Given the description of an element on the screen output the (x, y) to click on. 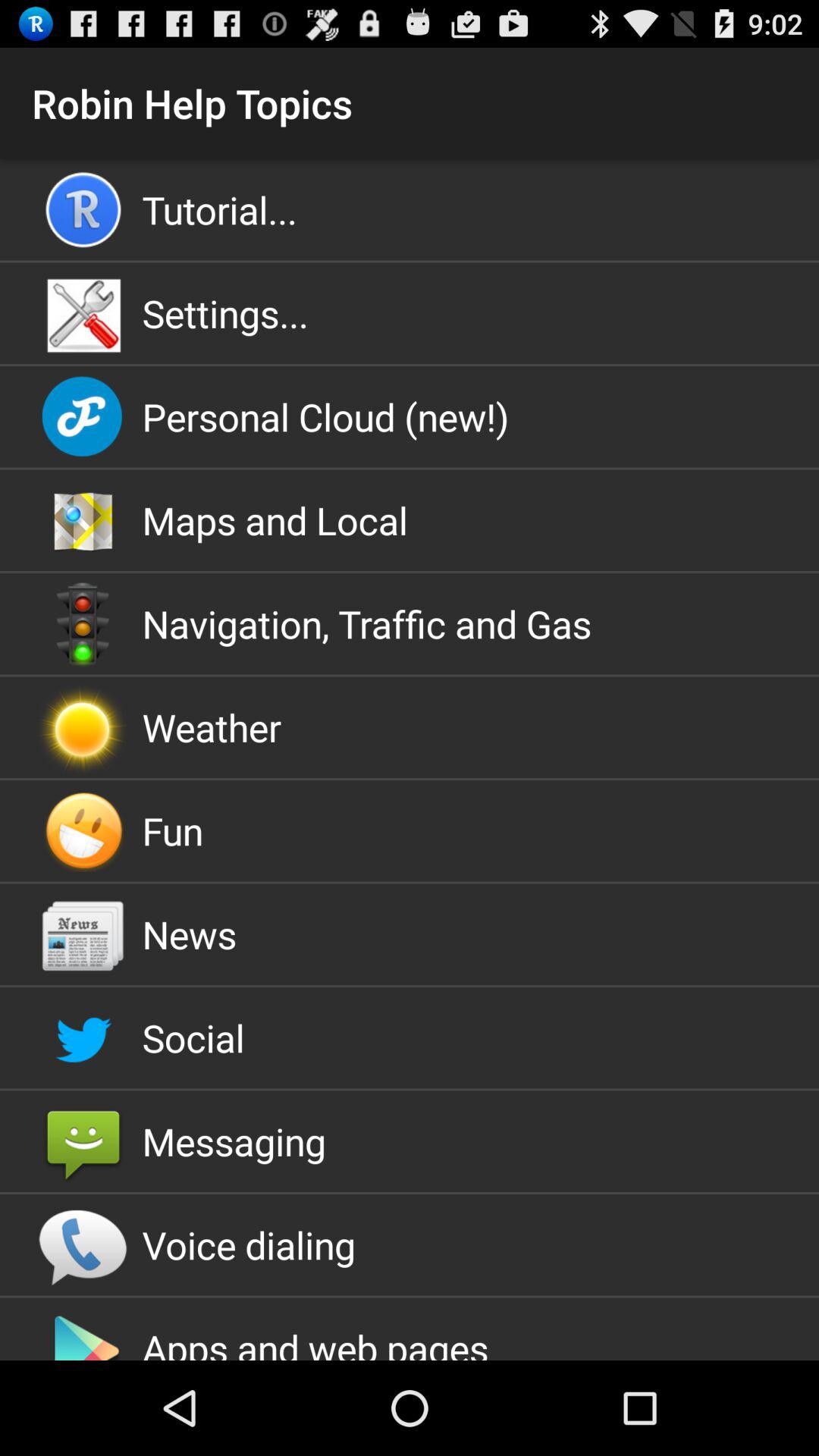
flip until the  voice dialing (409, 1244)
